Given the description of an element on the screen output the (x, y) to click on. 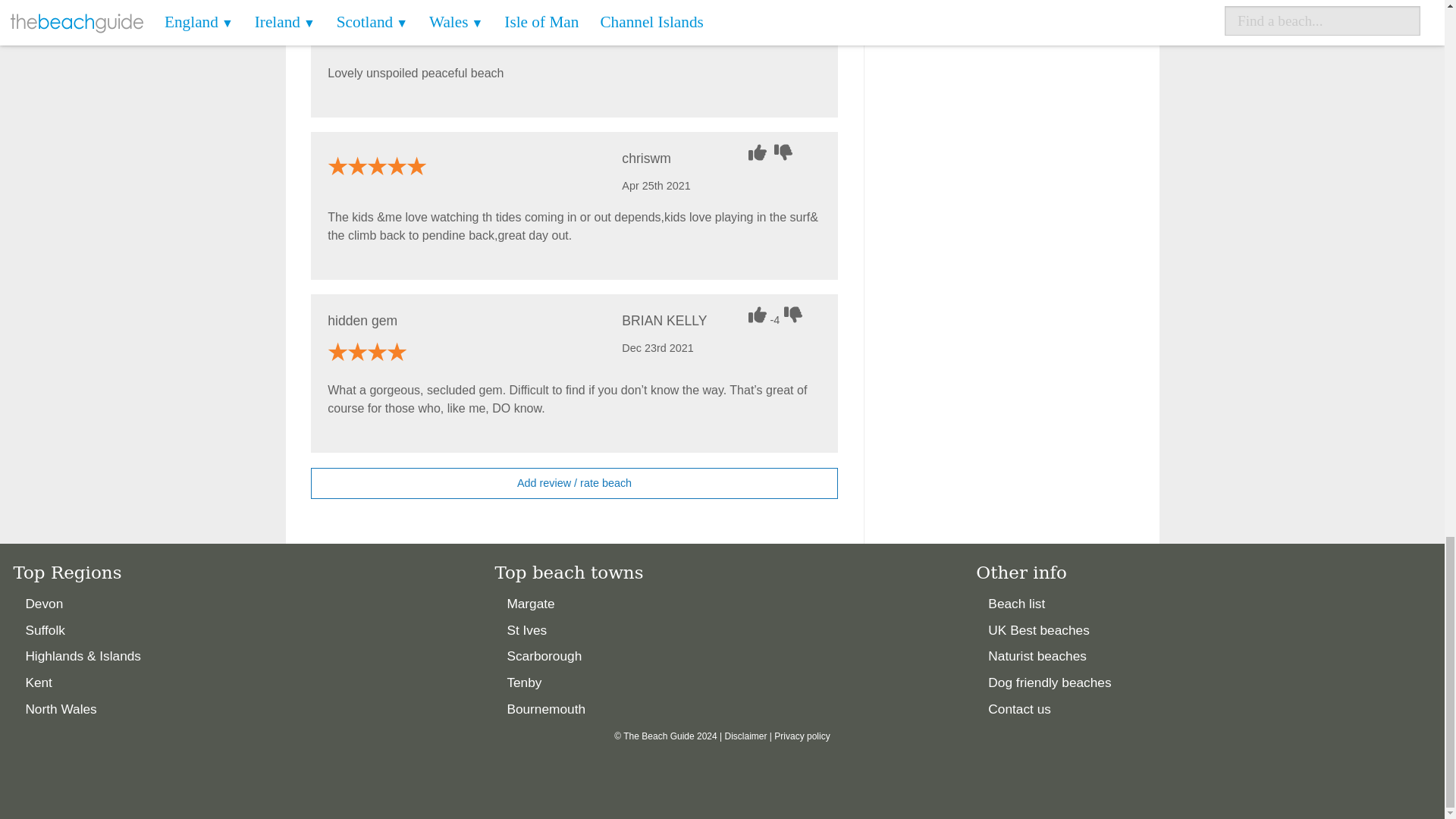
Vote up (759, 3)
Vote down (795, 314)
Vote up (759, 314)
Vote down (785, 152)
Vote down (791, 3)
Vote up (759, 152)
